Given the description of an element on the screen output the (x, y) to click on. 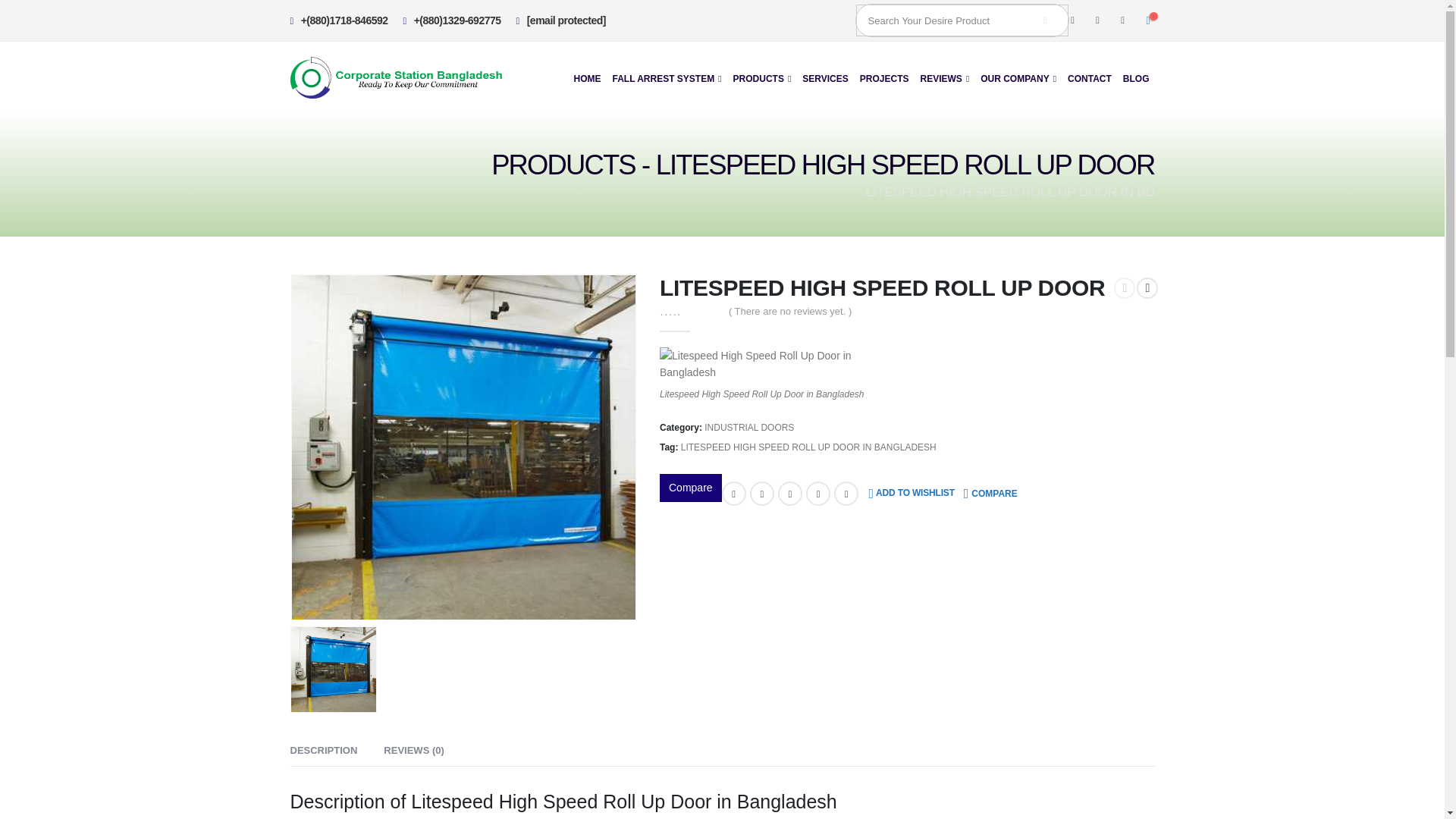
LinkedIn (789, 493)
Compare (990, 493)
Email (846, 493)
0 (689, 310)
Twitter (1097, 20)
PRODUCTS (762, 77)
Youtube (1123, 20)
Search (1045, 20)
FALL ARREST SYSTEM (666, 77)
Facebook (1072, 20)
